Given the description of an element on the screen output the (x, y) to click on. 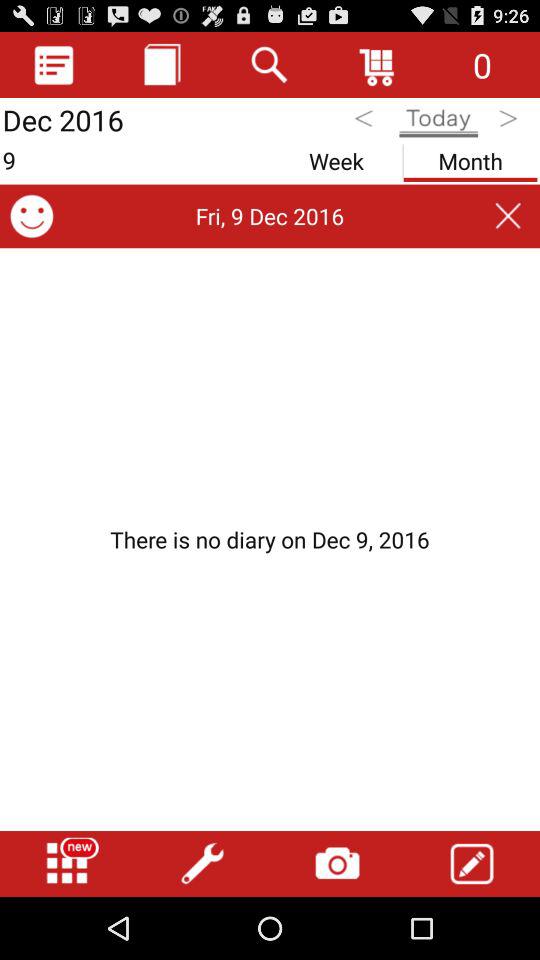
copy button (161, 64)
